Given the description of an element on the screen output the (x, y) to click on. 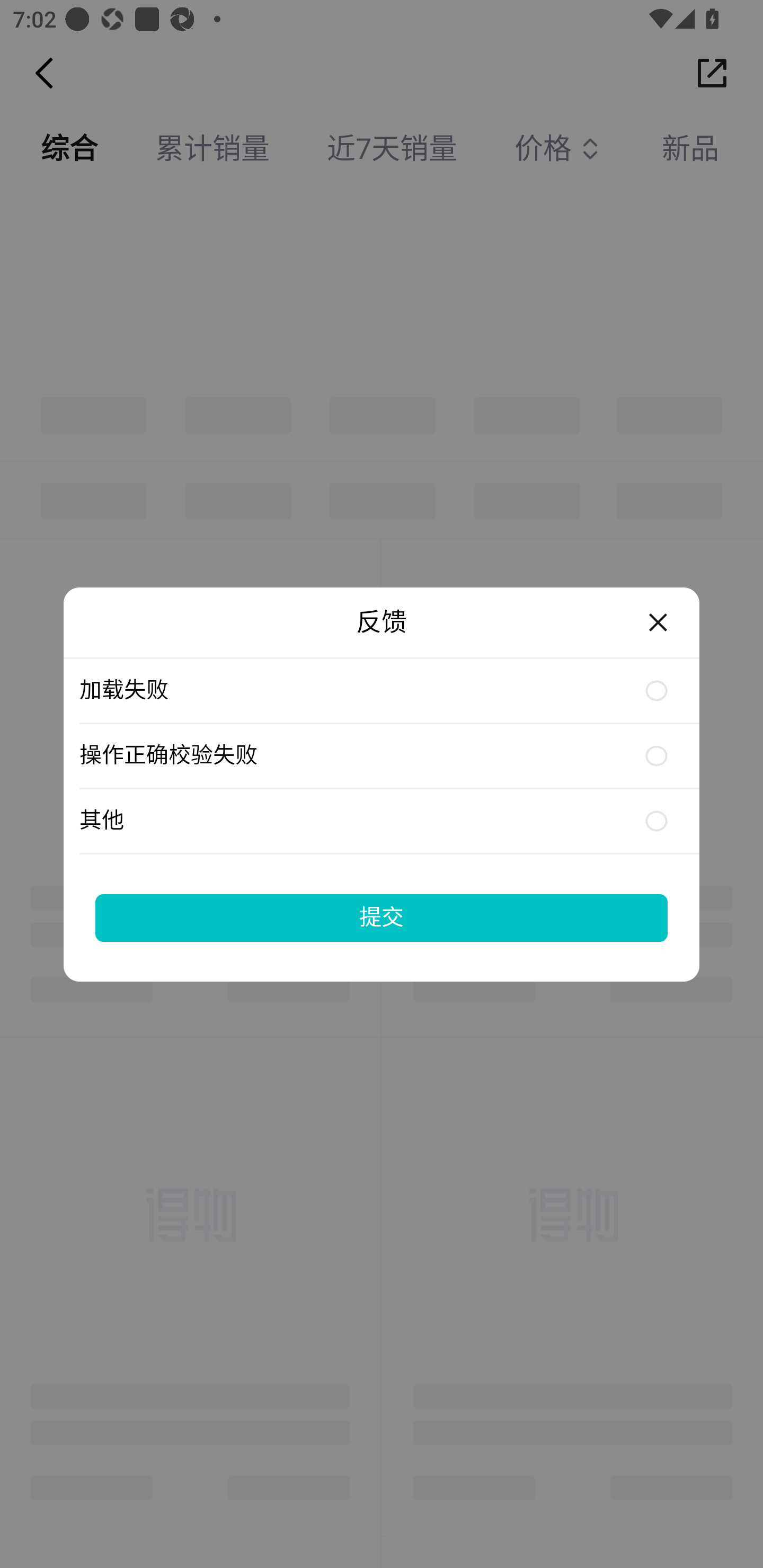
提交 (381, 917)
